Given the description of an element on the screen output the (x, y) to click on. 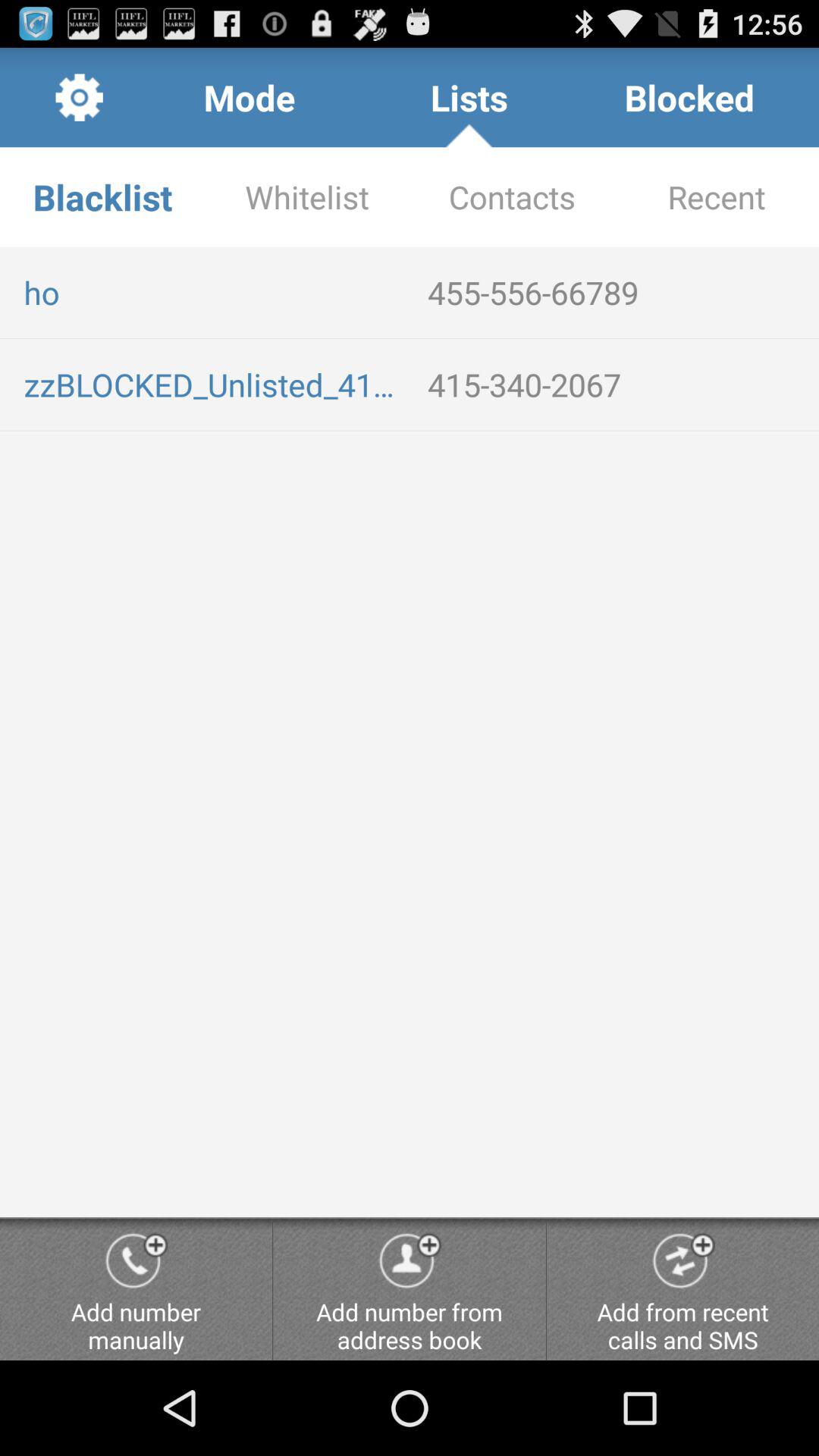
select item below blacklist icon (213, 291)
